Given the description of an element on the screen output the (x, y) to click on. 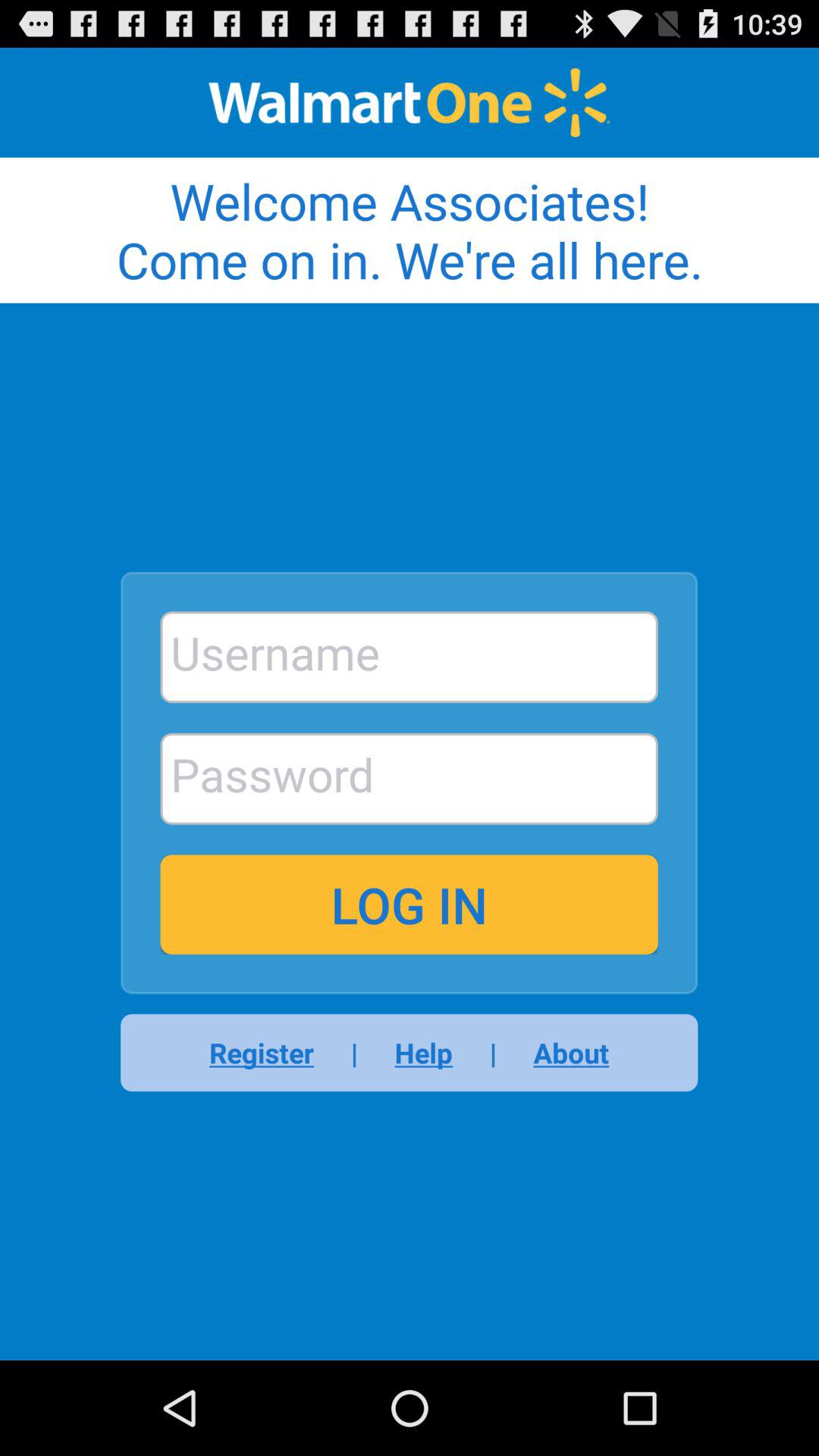
turn off the item below the log in (271, 1052)
